Given the description of an element on the screen output the (x, y) to click on. 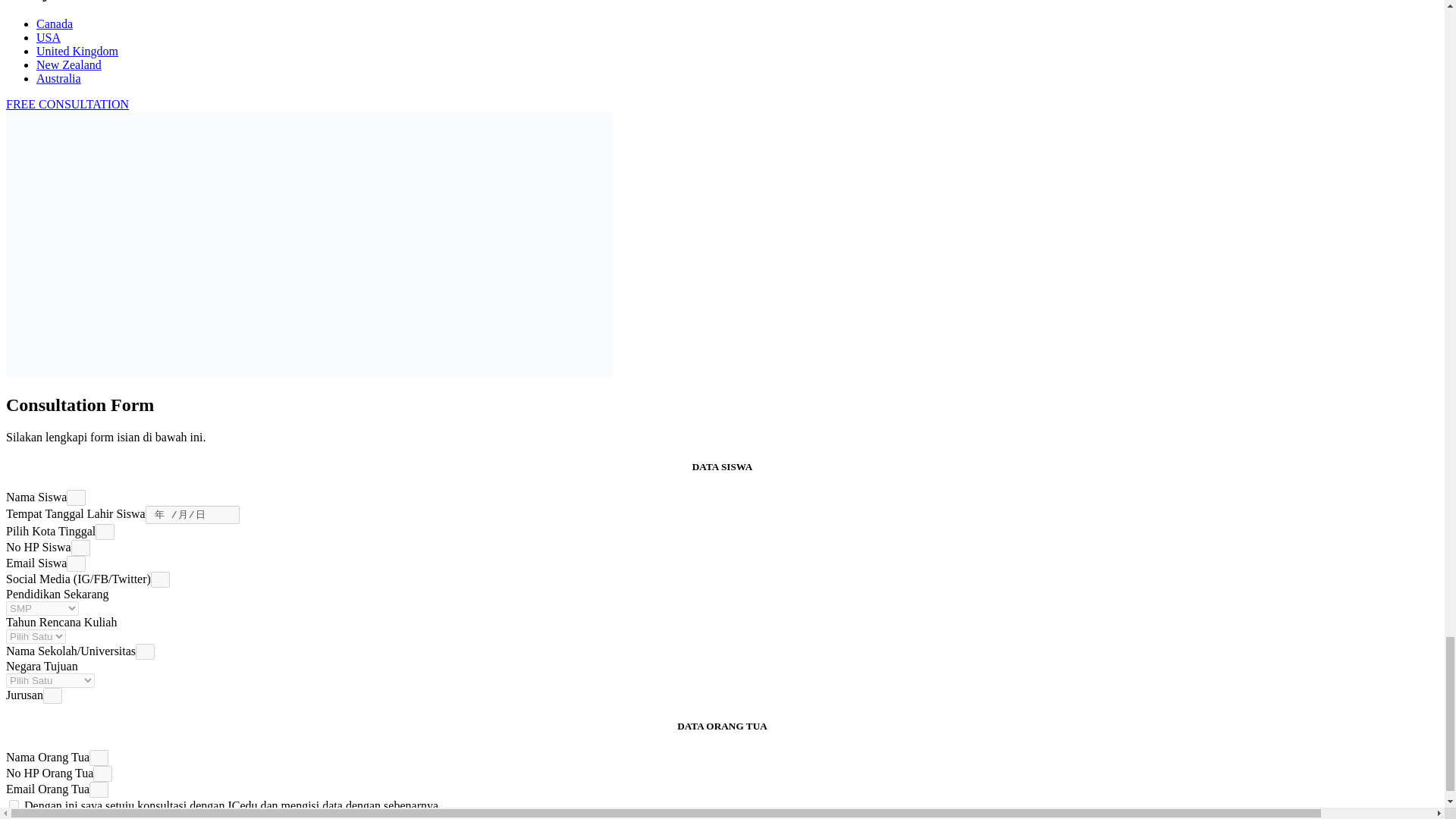
on (13, 804)
